Given the description of an element on the screen output the (x, y) to click on. 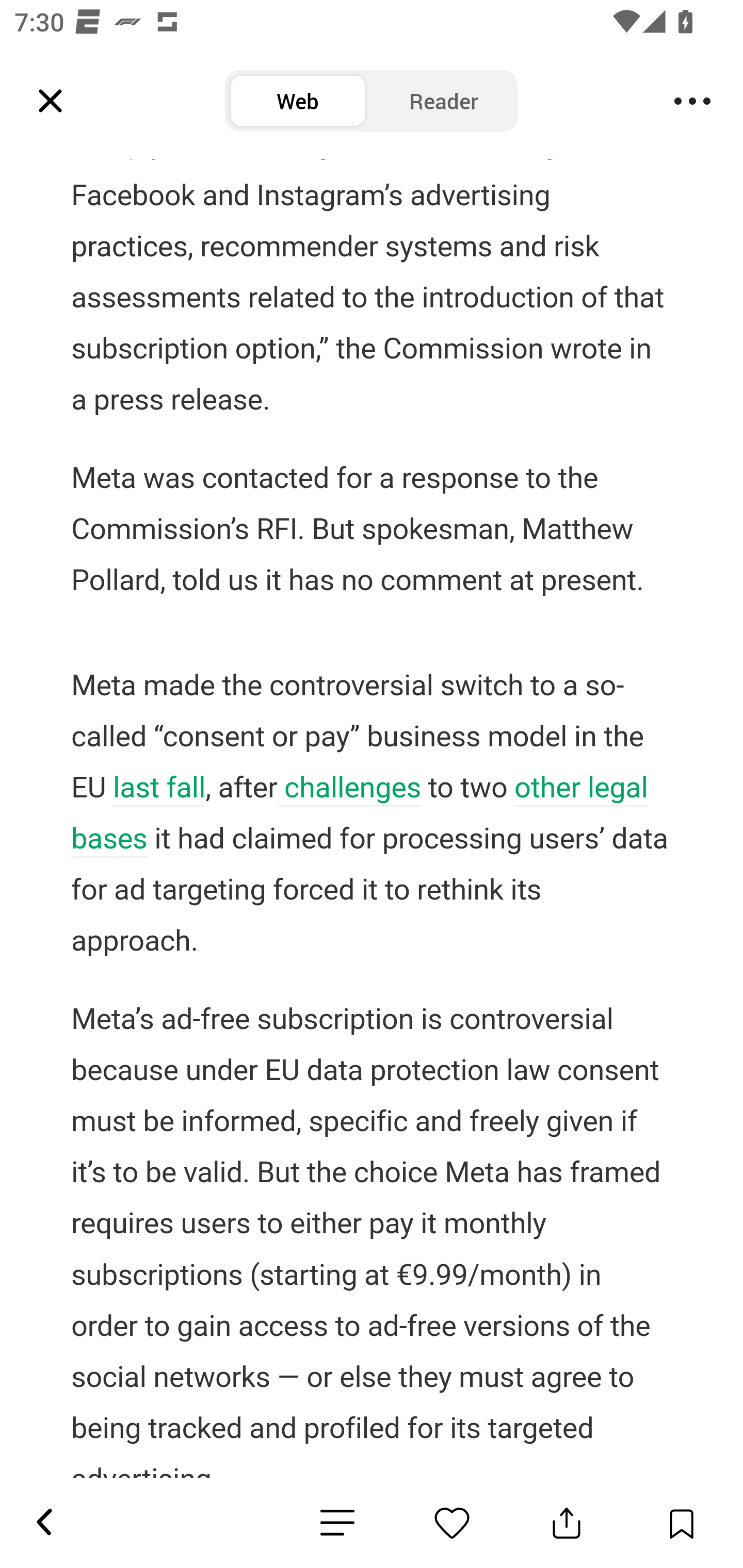
Leading Icon (50, 101)
Reader (443, 101)
Menu (692, 101)
last fall (159, 790)
 challenges (349, 790)
Back Button (43, 1523)
News Detail Emotion (451, 1523)
Share Button (566, 1523)
Save Button (680, 1523)
News Detail Emotion (337, 1523)
